Given the description of an element on the screen output the (x, y) to click on. 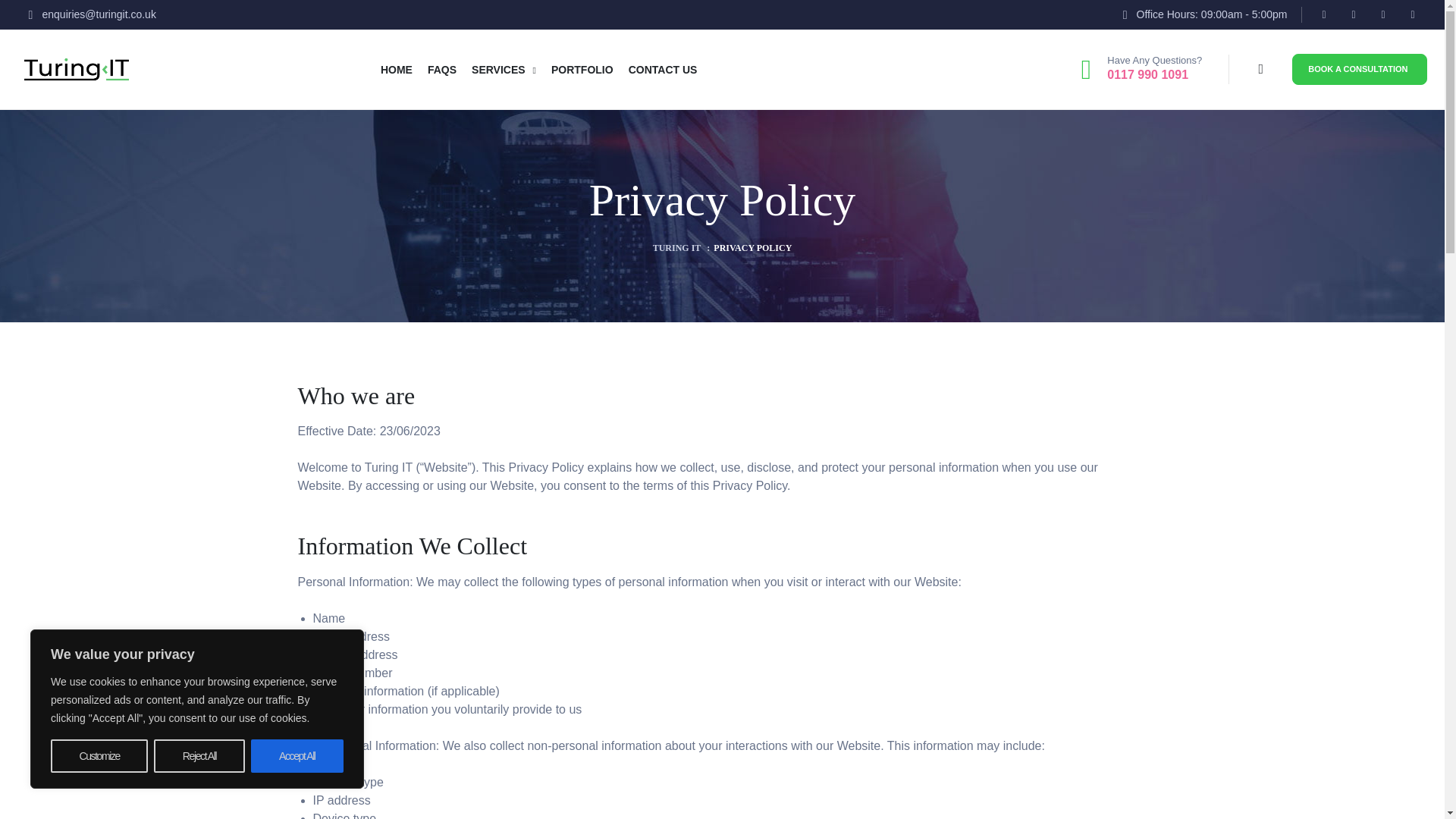
Accept All (296, 756)
TOP (1414, 783)
Reject All (199, 756)
Customize (99, 756)
Go to Turing IT. (676, 247)
